Given the description of an element on the screen output the (x, y) to click on. 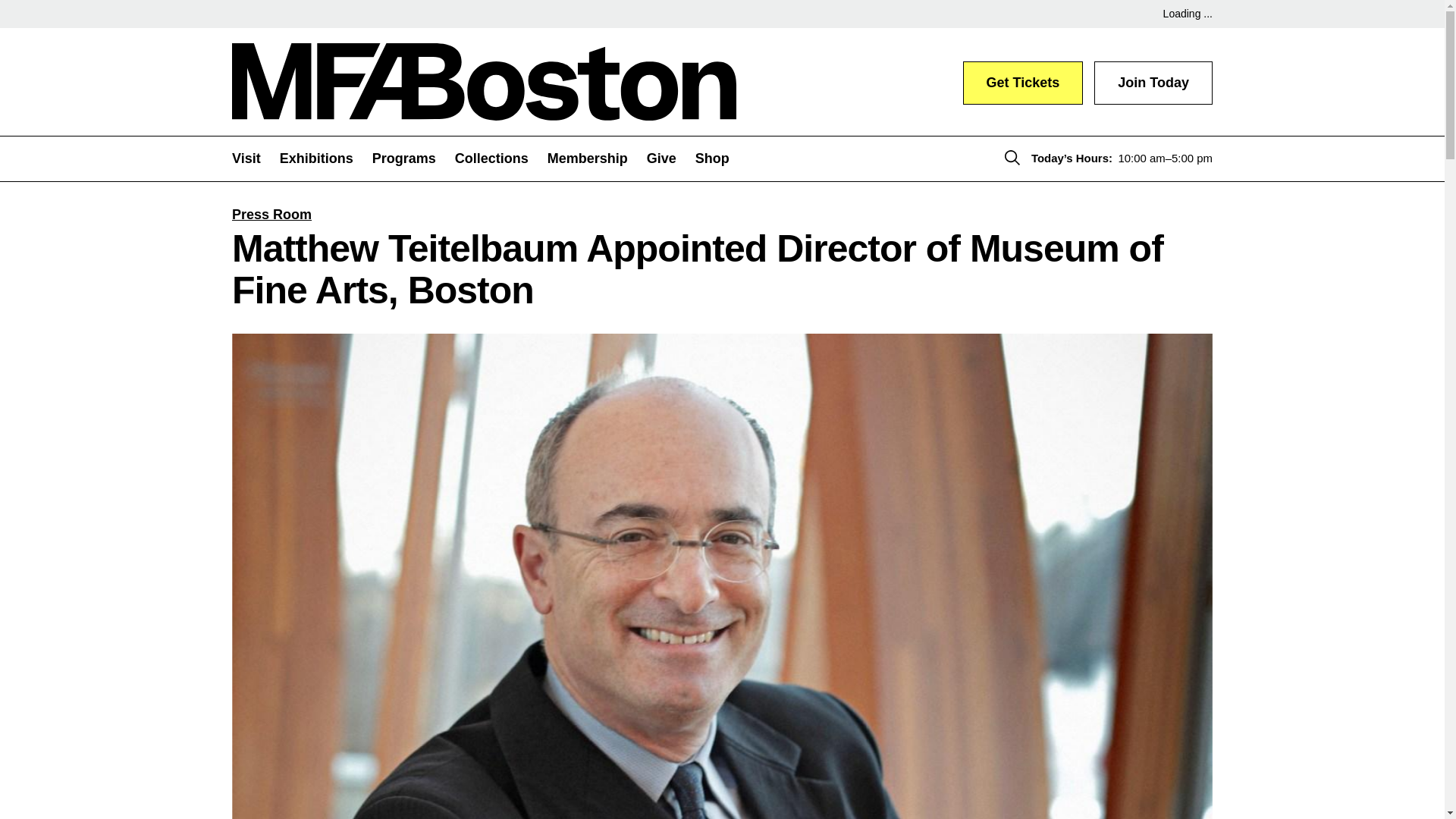
Expand menu Programs (413, 158)
Search (1012, 157)
Expand menu Visit (255, 158)
Home (483, 81)
Expand menu Exhibitions (325, 158)
